Given the description of an element on the screen output the (x, y) to click on. 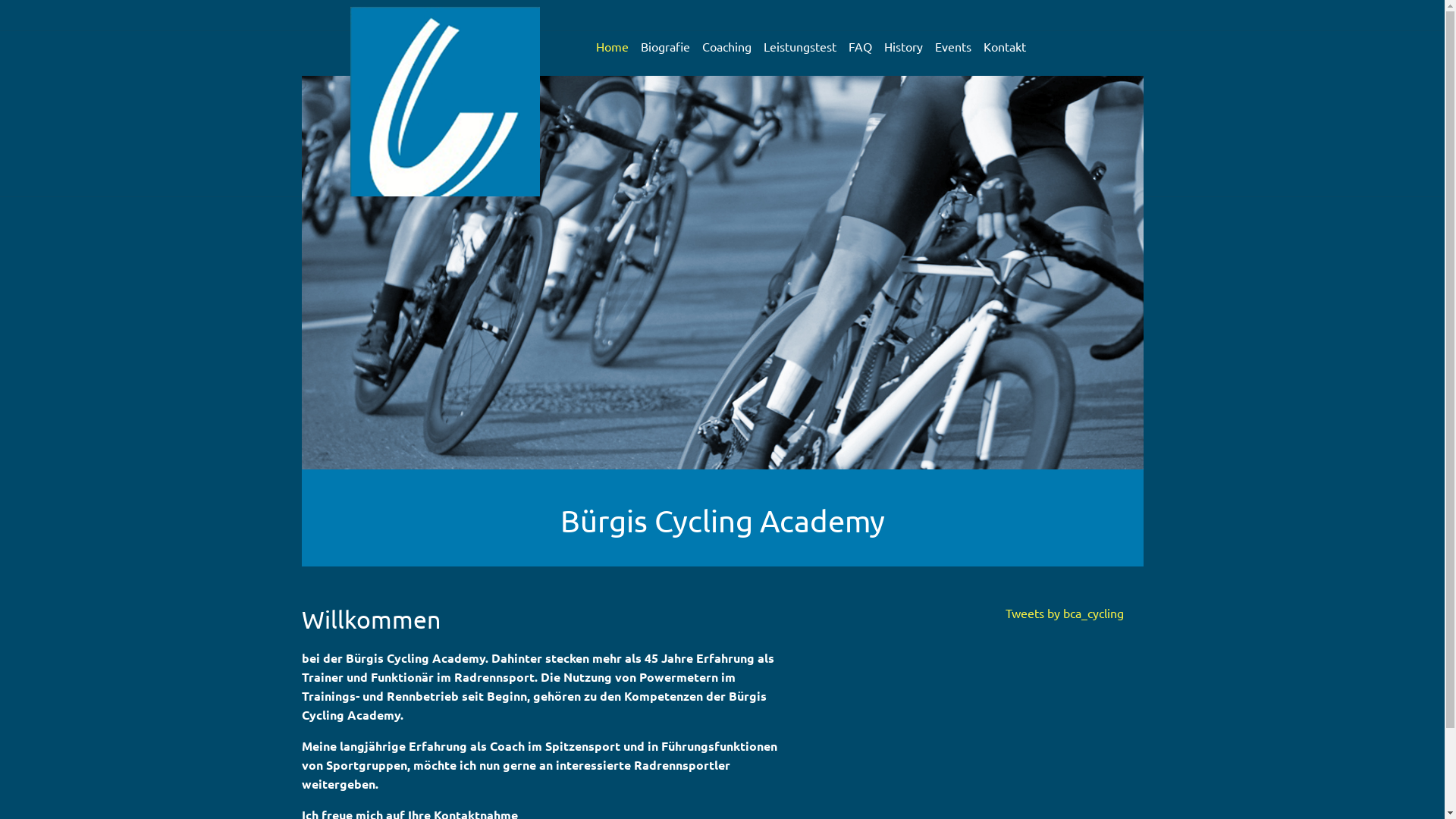
Leistungstest Element type: text (798, 46)
FAQ Element type: text (859, 46)
Coaching Element type: text (726, 46)
Kontakt Element type: text (1003, 46)
Home Element type: text (611, 46)
Tweets by bca_cycling Element type: text (1064, 612)
History Element type: text (903, 46)
Biografie Element type: text (664, 46)
Events Element type: text (952, 46)
